Given the description of an element on the screen output the (x, y) to click on. 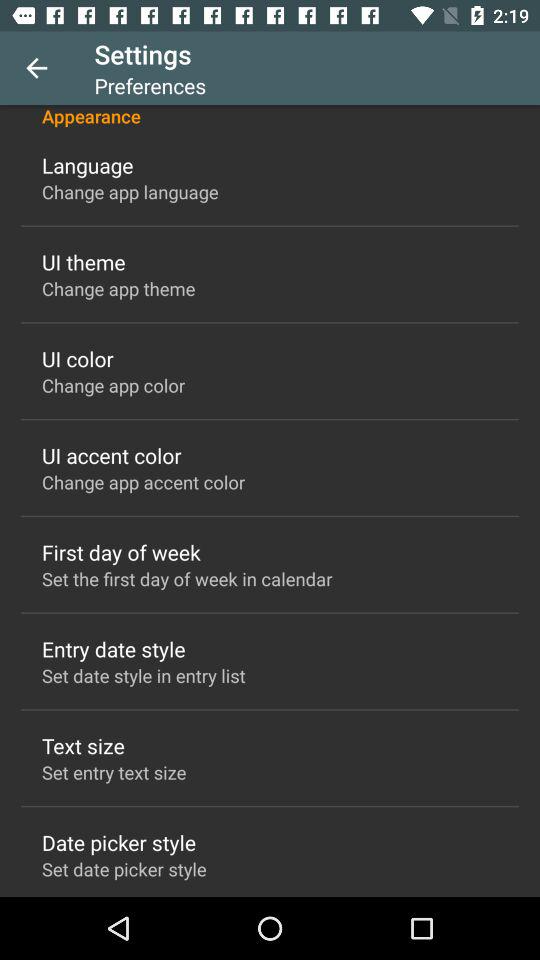
open icon above appearance item (36, 68)
